Given the description of an element on the screen output the (x, y) to click on. 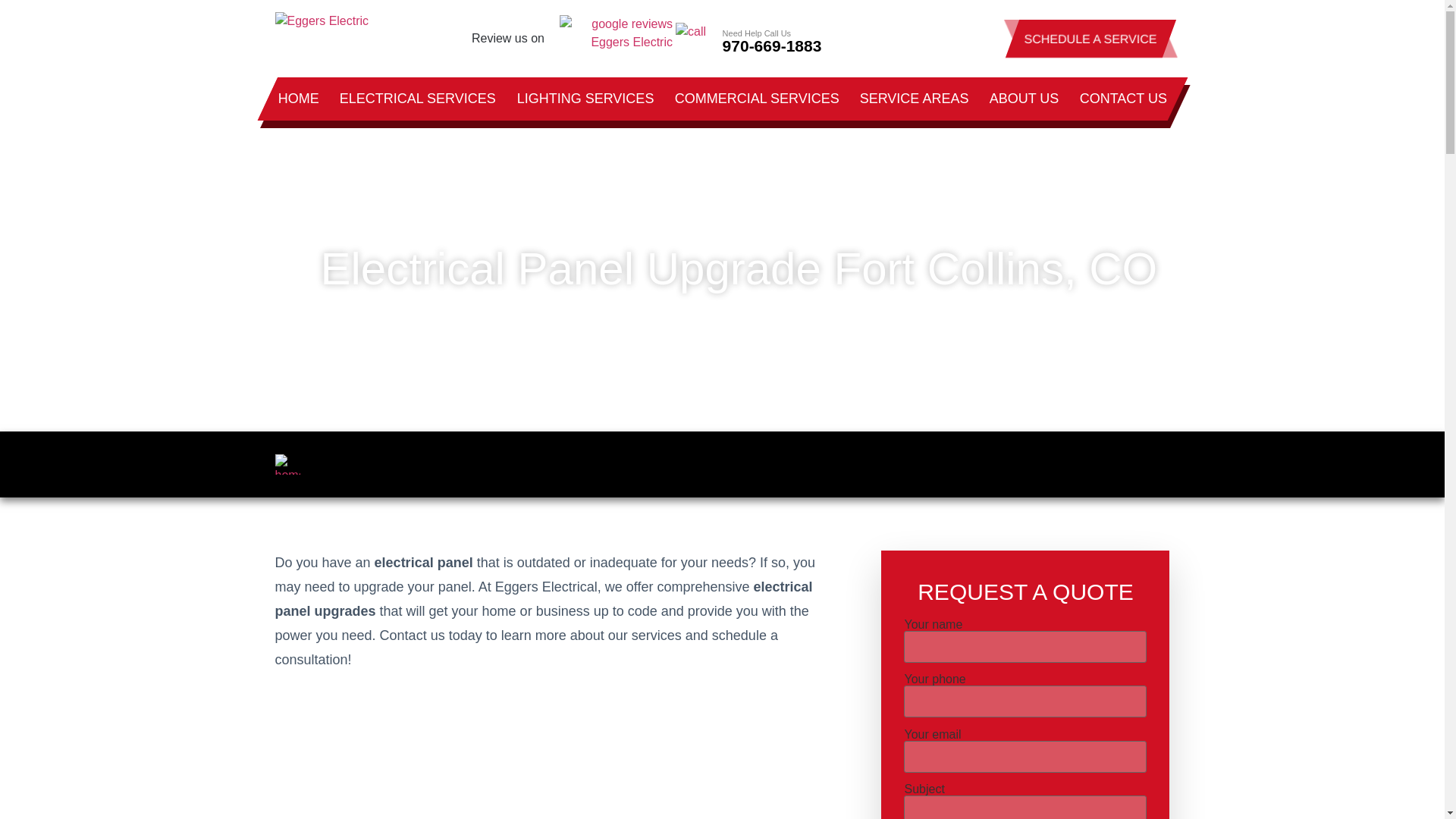
Need Help Call Us (773, 38)
HOME (297, 126)
LIGHTING SERVICES (584, 99)
COMMERCIAL SERVICES (755, 98)
ELECTRICAL SERVICES (417, 122)
SCHEDULE A SERVICE (1194, 38)
970-669-1883 (788, 46)
SERVICE AREAS (913, 98)
Review us on (507, 38)
